Given the description of an element on the screen output the (x, y) to click on. 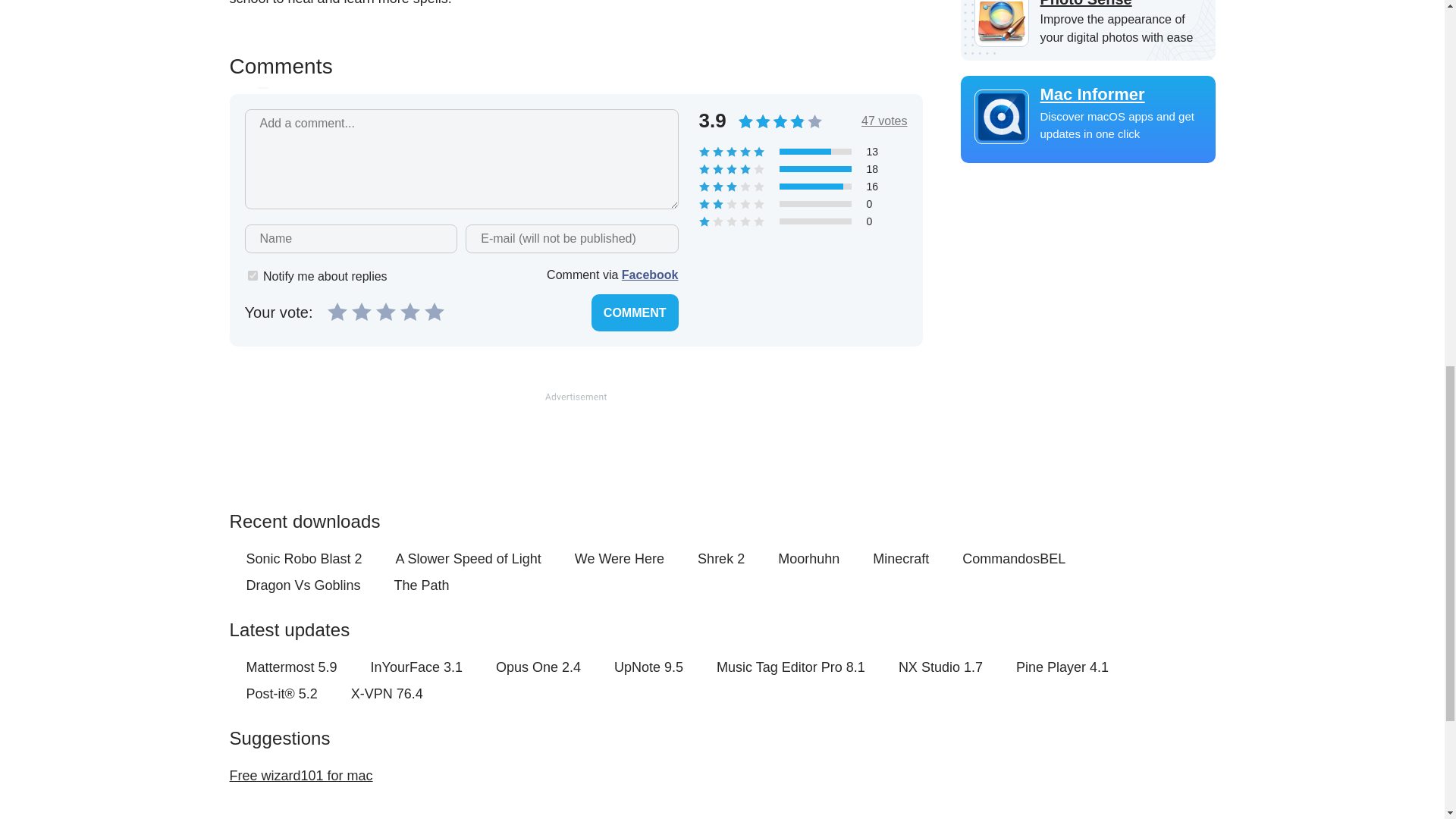
Mac Informer (1087, 94)
4 (409, 311)
1 (252, 275)
5 (434, 311)
Comment (634, 312)
47 votes (884, 120)
Photo Sense (1087, 5)
Sonic Robo Blast 2 (303, 559)
Comment (634, 312)
A Slower Speed of Light (468, 559)
